Given the description of an element on the screen output the (x, y) to click on. 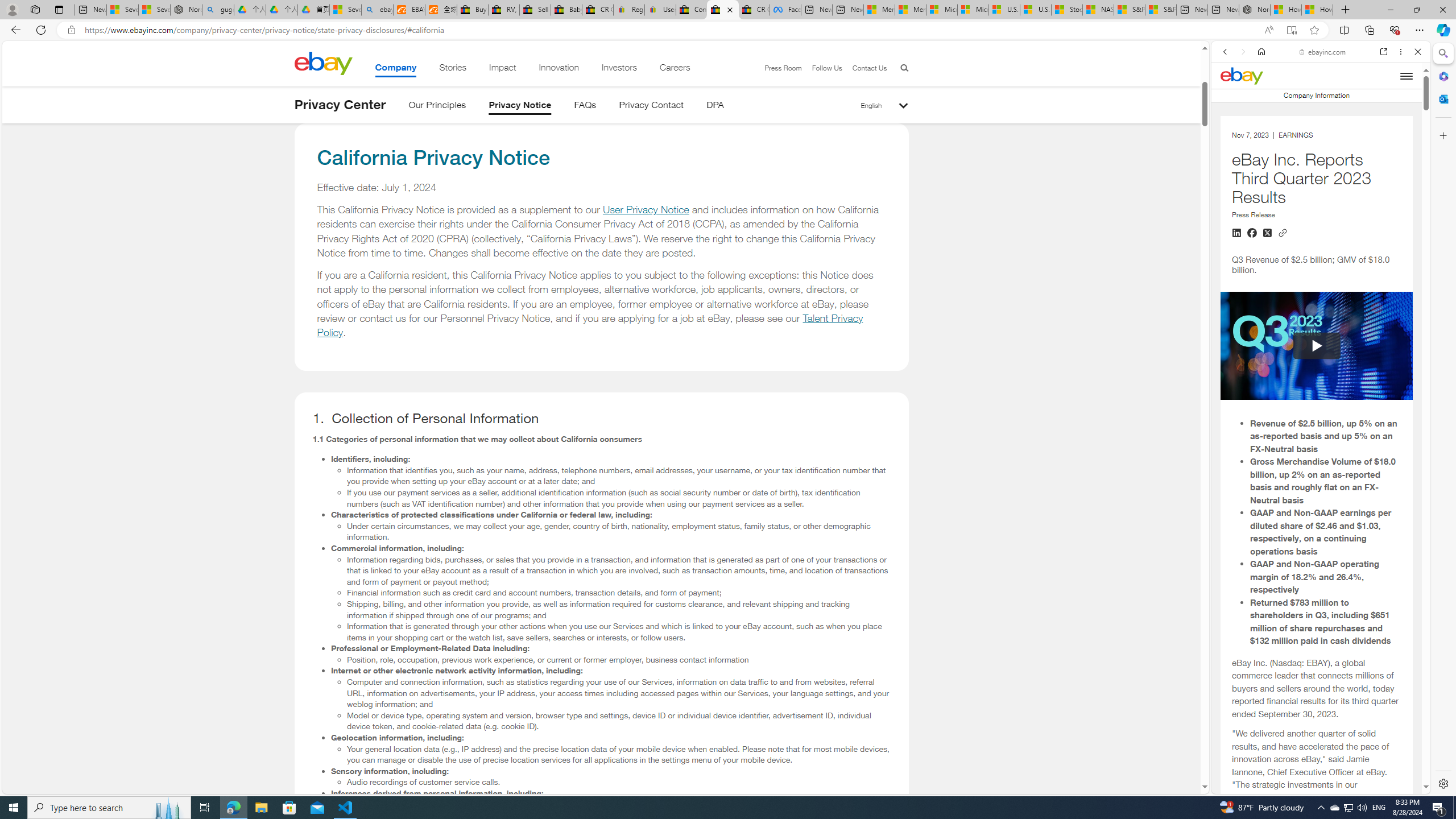
Open link in new tab (1383, 51)
Search the web (1326, 78)
Share on LinkedIn (1236, 232)
includes synonym (1315, 767)
Privacy Contact (651, 107)
